Given the description of an element on the screen output the (x, y) to click on. 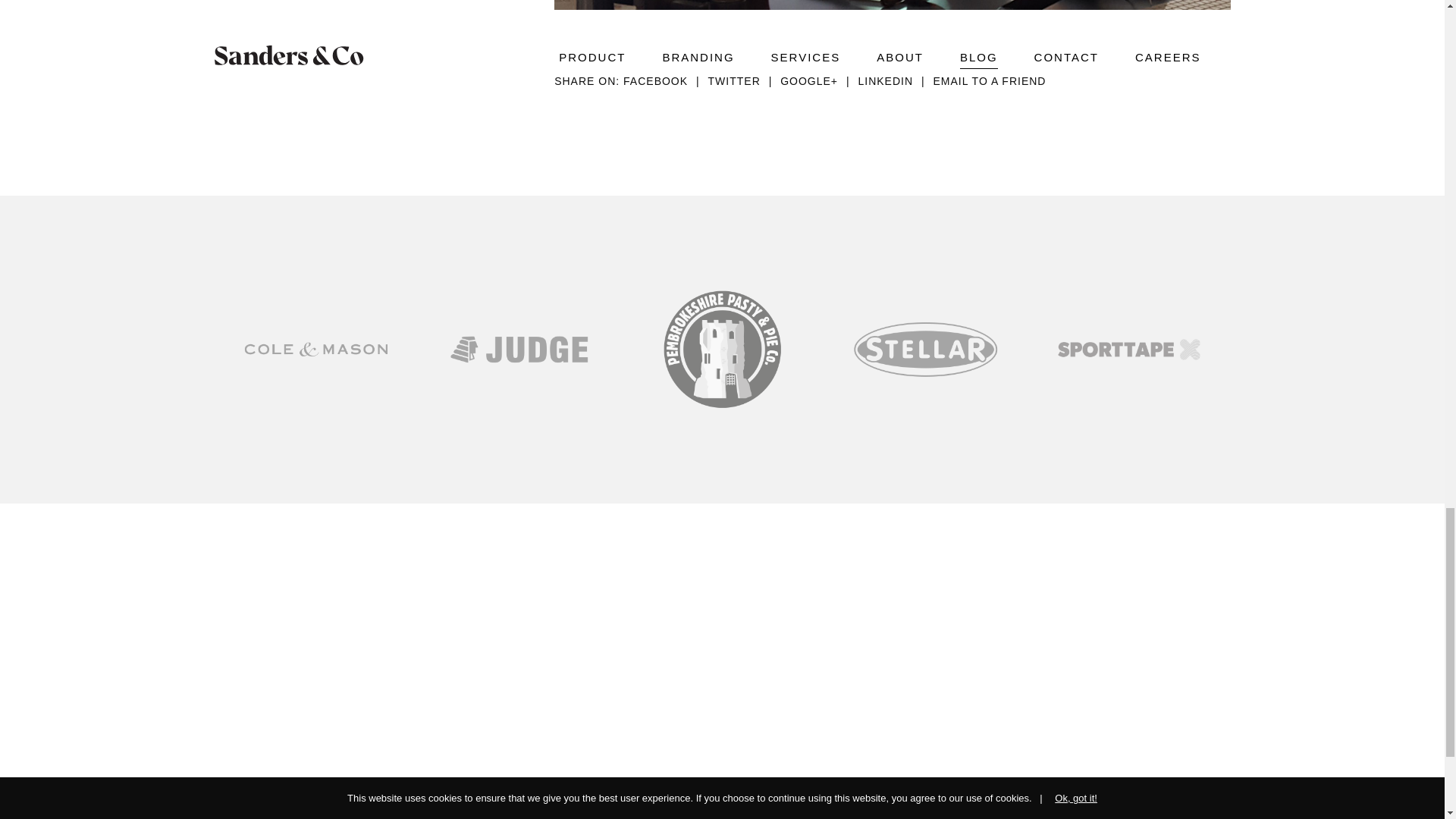
Share on Facebook (665, 80)
Share on LinkedIn (895, 80)
TWITTER (743, 80)
LINKEDIN (895, 80)
EMAIL TO A FRIEND (989, 80)
Email to a friend (989, 80)
FACEBOOK (665, 80)
Share on Twitter (743, 80)
